Given the description of an element on the screen output the (x, y) to click on. 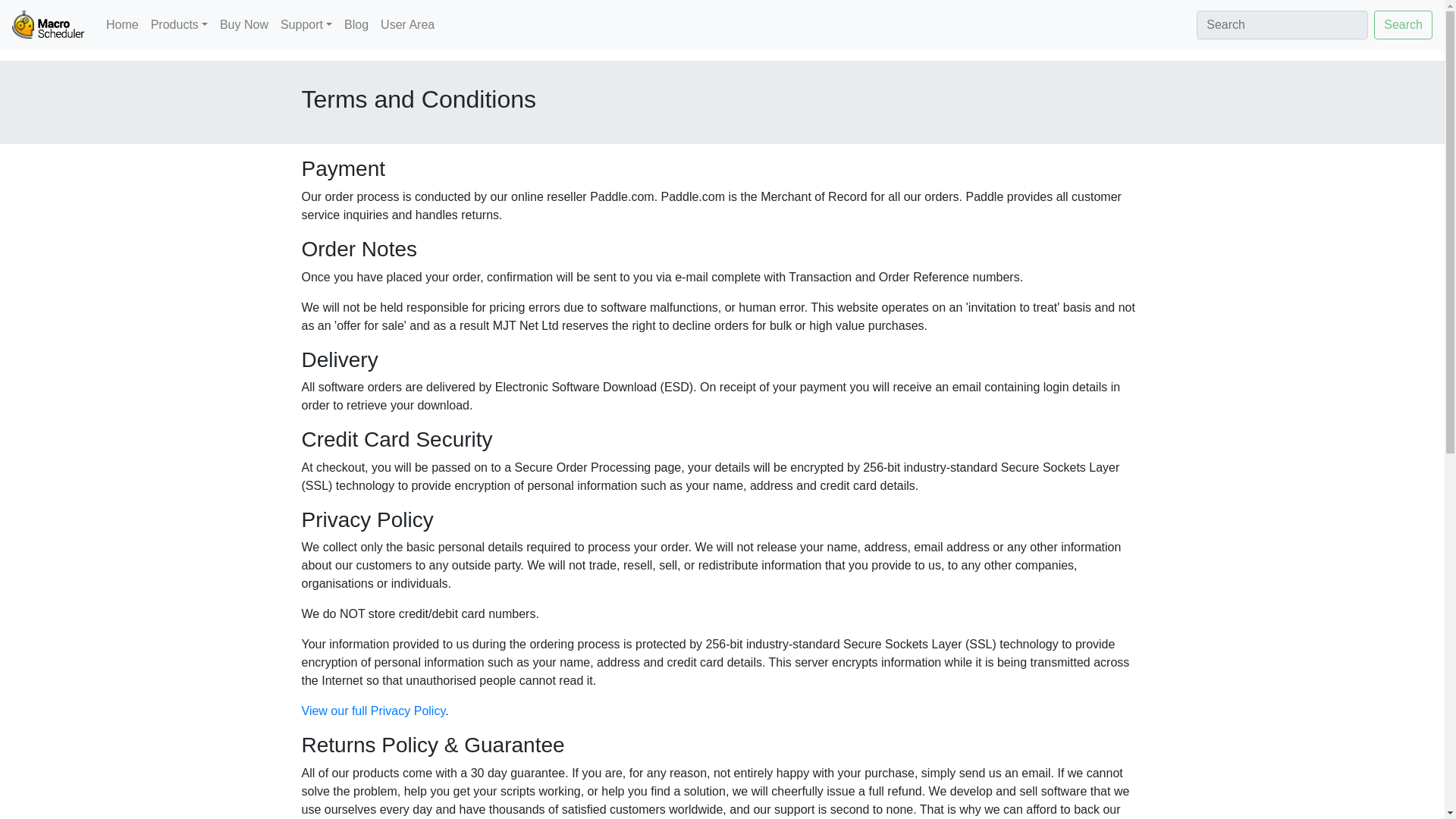
Blog (355, 24)
User Area (407, 24)
View our full Privacy Policy (373, 710)
Support (306, 24)
Search (1403, 24)
Buy Now (244, 24)
Products (179, 24)
